Given the description of an element on the screen output the (x, y) to click on. 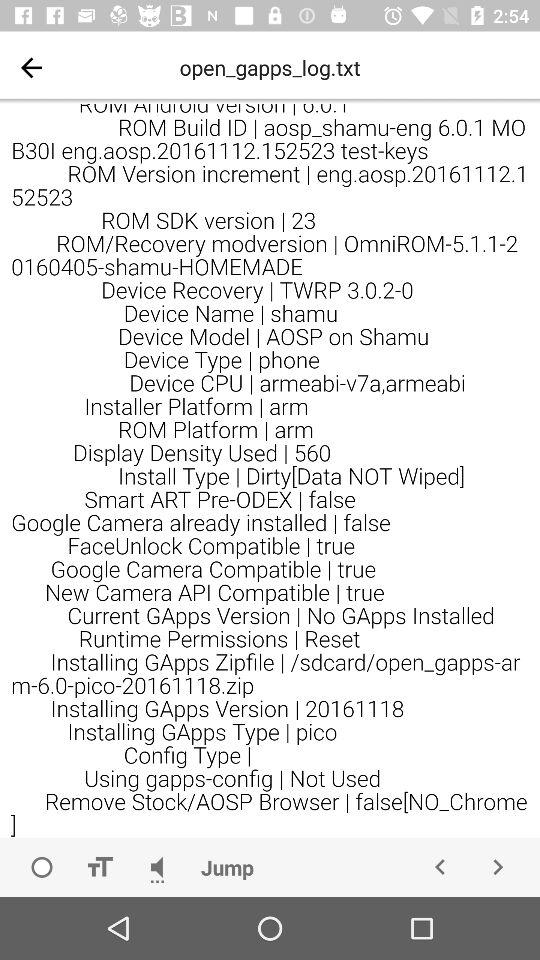
volume control (157, 867)
